Given the description of an element on the screen output the (x, y) to click on. 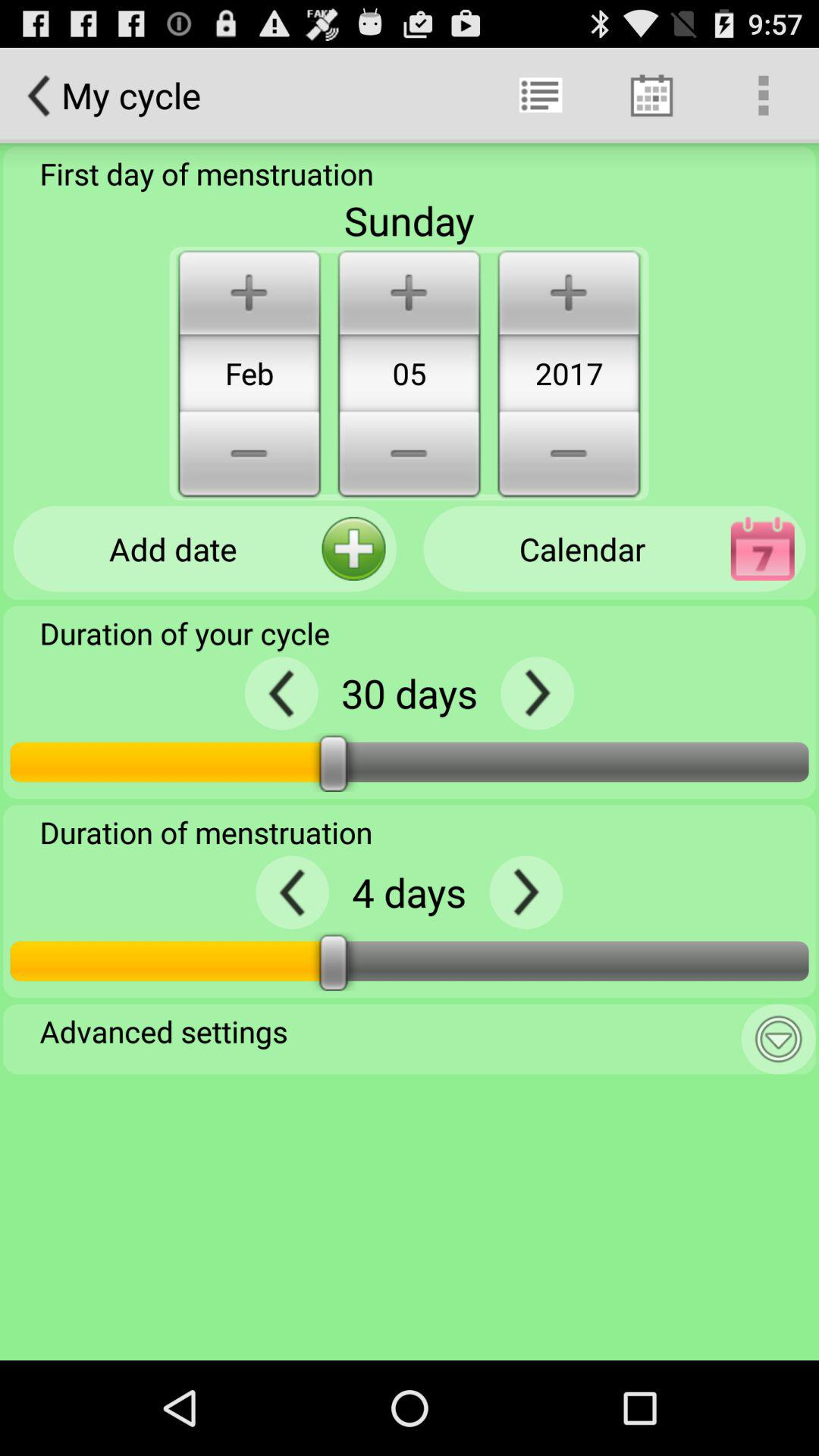
click the backward arrow button on the left to the option 4 days on the web page (292, 891)
click the forward arrow button on the right next to the option 4 days on the web page (525, 891)
click on the button below 05 (408, 456)
click on minus button below feb (248, 456)
click the button calendar on the web page (614, 548)
click on backward arrow icon left to 30 days (281, 693)
click on the button which is next to the 30 days (537, 693)
click on the drop down next to advanced settings (778, 1039)
click the  button above the option feb on the web page (248, 290)
